Given the description of an element on the screen output the (x, y) to click on. 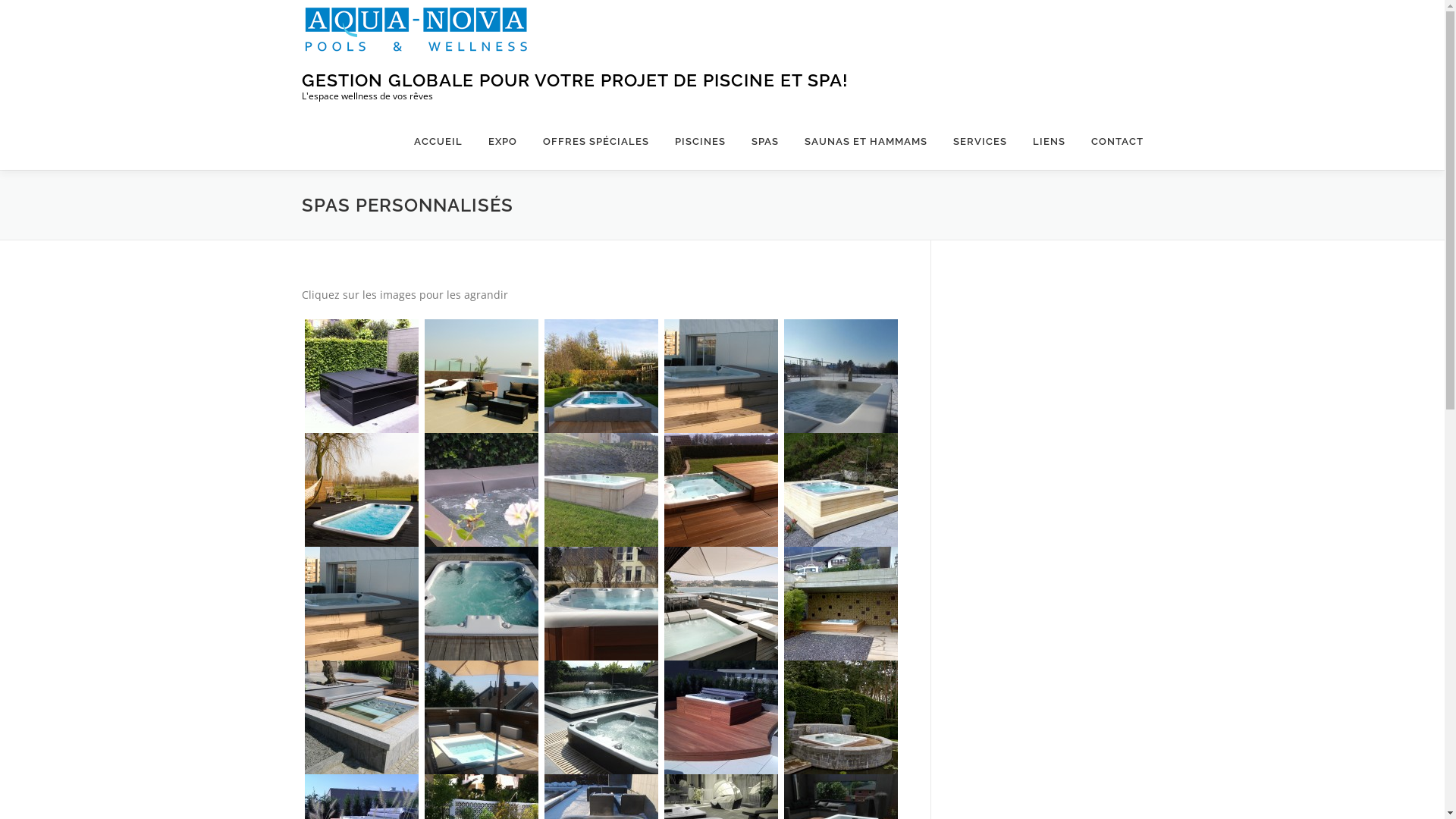
CONTACT Element type: text (1110, 140)
EXPO Element type: text (501, 140)
ACCUEIL Element type: text (437, 140)
LIENS Element type: text (1048, 140)
SAUNAS ET HAMMAMS Element type: text (865, 140)
GESTION GLOBALE POUR VOTRE PROJET DE PISCINE ET SPA! Element type: text (574, 79)
SPAS Element type: text (764, 140)
SERVICES Element type: text (979, 140)
PISCINES Element type: text (699, 140)
